Given the description of an element on the screen output the (x, y) to click on. 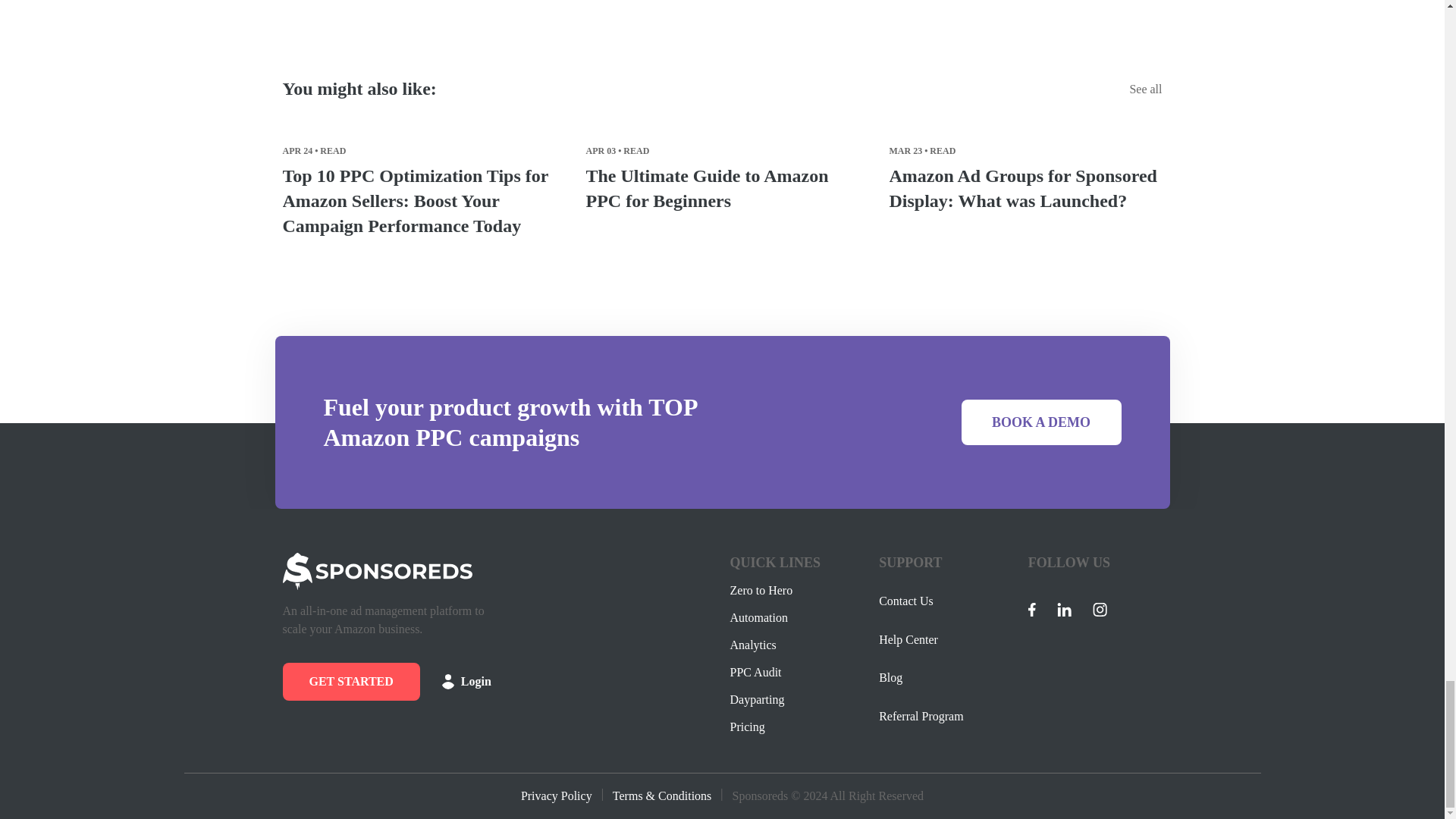
GET STARTED (350, 681)
Dayparting (756, 700)
See all (1145, 89)
Login (466, 681)
Pricing (746, 727)
Contact Us (906, 606)
The Ultimate Guide to Amazon PPC for Beginners (722, 188)
BOOK A DEMO (1040, 422)
PPC Audit (754, 672)
Amazon Ad Groups for Sponsored Display: What was Launched? (1024, 188)
